Given the description of an element on the screen output the (x, y) to click on. 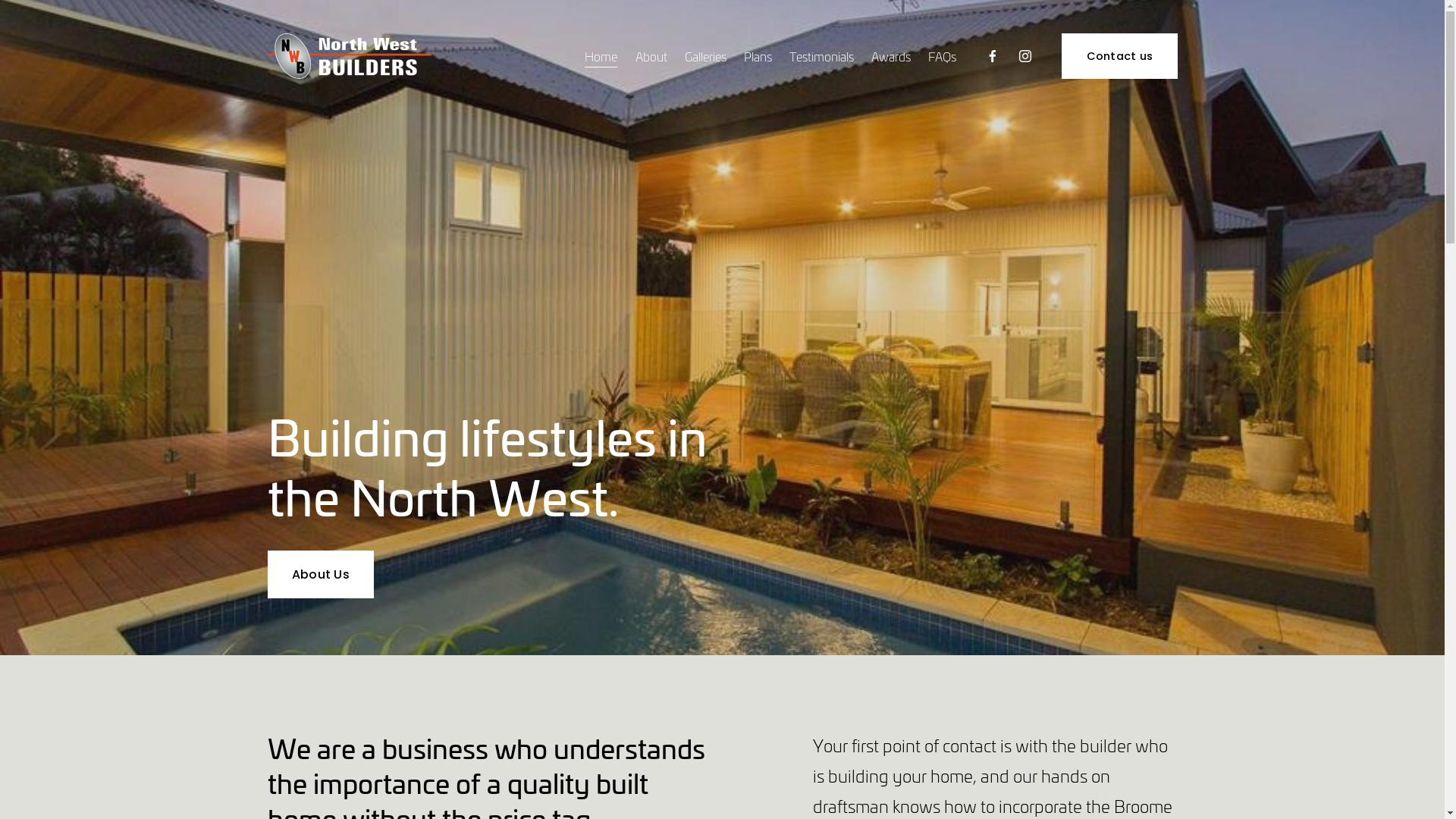
Awards Element type: text (890, 55)
About Us Element type: text (319, 574)
About Element type: text (651, 55)
Contact us Element type: text (1118, 55)
FAQs Element type: text (942, 55)
Plans Element type: text (757, 55)
Home Element type: text (600, 55)
Testimonials Element type: text (821, 55)
Galleries Element type: text (705, 55)
